Given the description of an element on the screen output the (x, y) to click on. 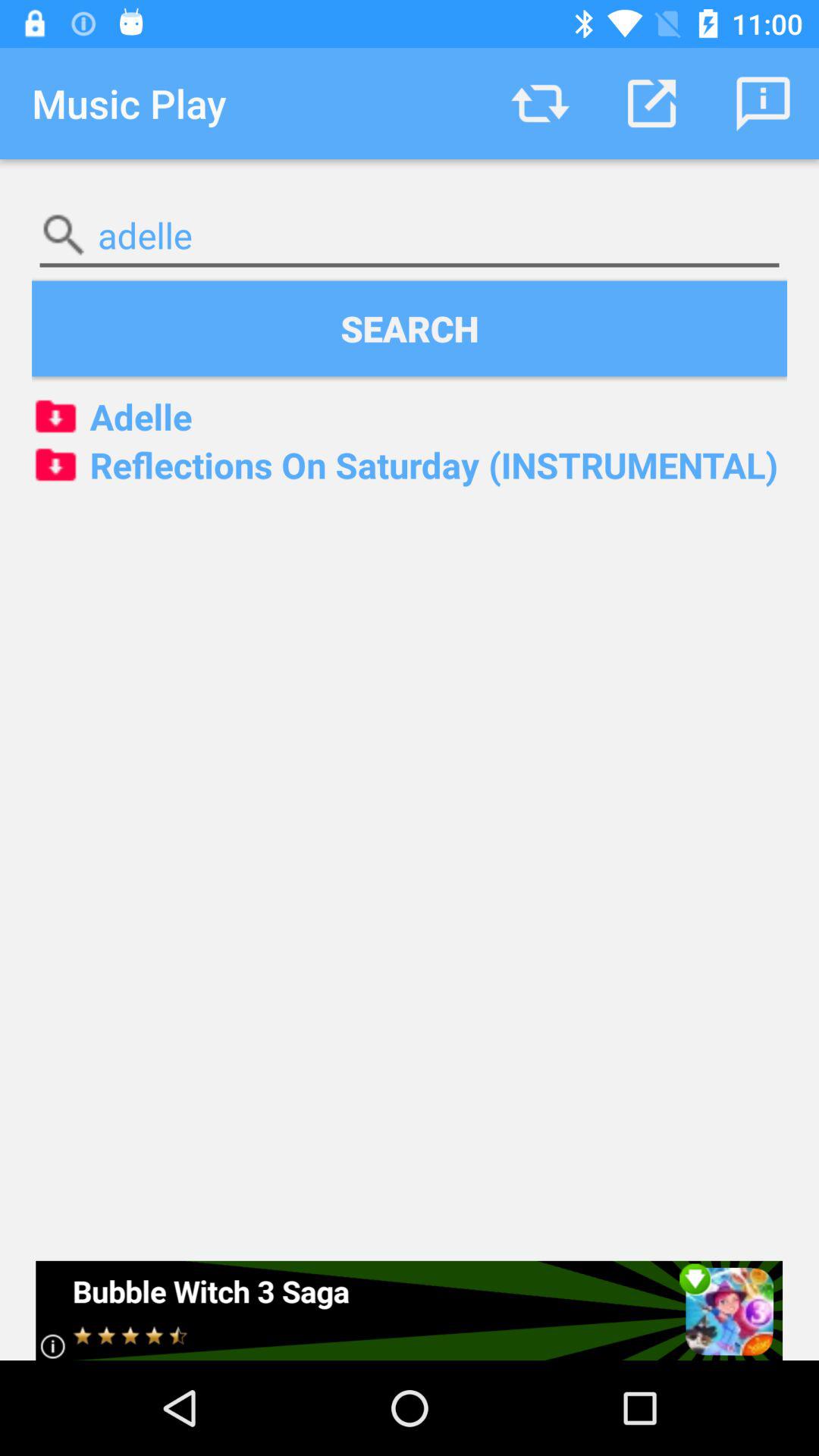
launch advertised app in play store (408, 1310)
